Given the description of an element on the screen output the (x, y) to click on. 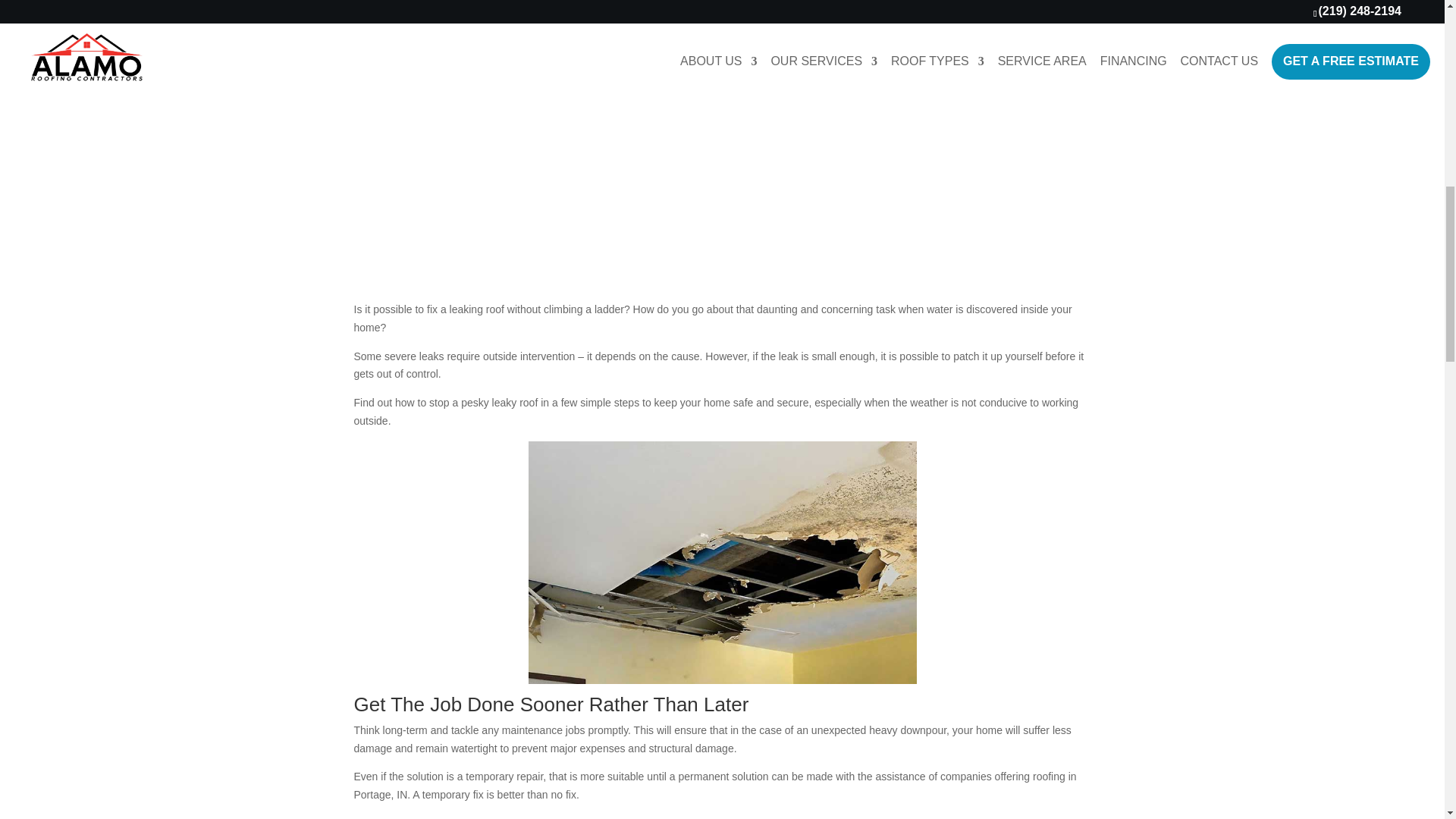
roof-leaks (722, 14)
